Given the description of an element on the screen output the (x, y) to click on. 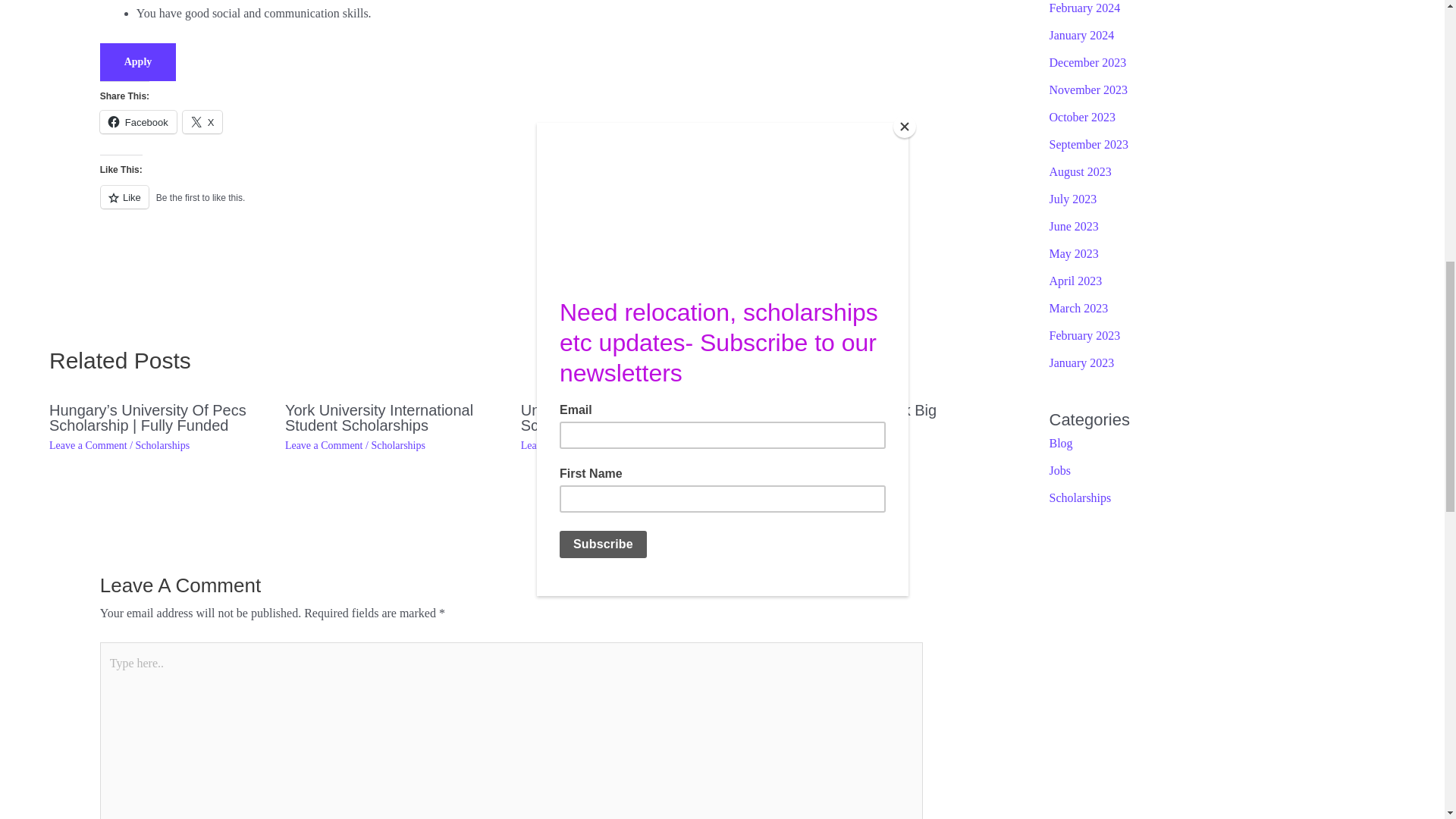
Click to share on X (202, 121)
Like or Reblog (511, 205)
Click to share on Facebook (138, 121)
